Given the description of an element on the screen output the (x, y) to click on. 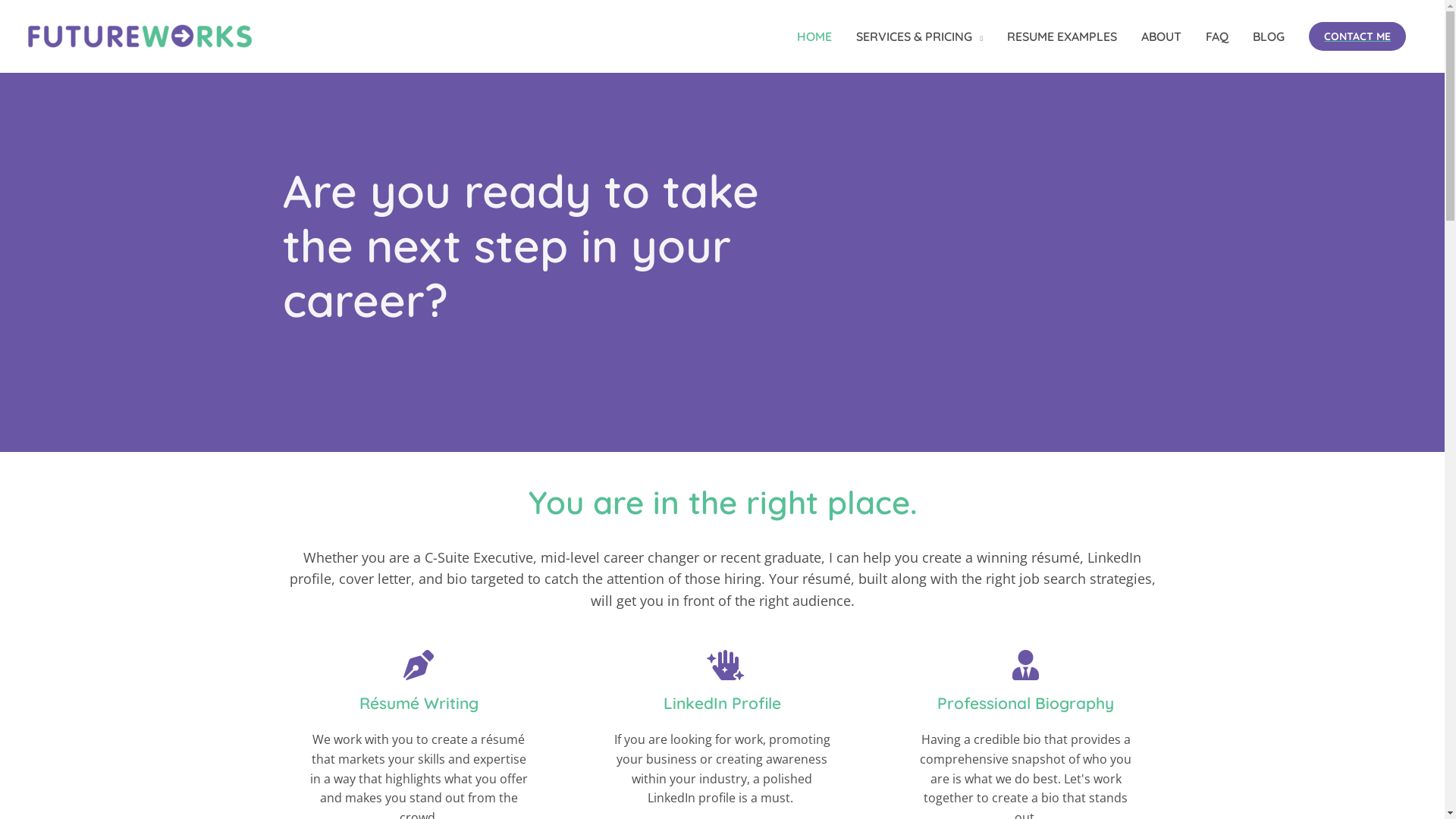
BLOG Element type: text (1268, 36)
HOME Element type: text (814, 36)
FAQ Element type: text (1216, 36)
CONTACT ME Element type: text (1356, 35)
SERVICES & PRICING Element type: text (919, 36)
ABOUT Element type: text (1161, 36)
RESUME EXAMPLES Element type: text (1061, 36)
